Given the description of an element on the screen output the (x, y) to click on. 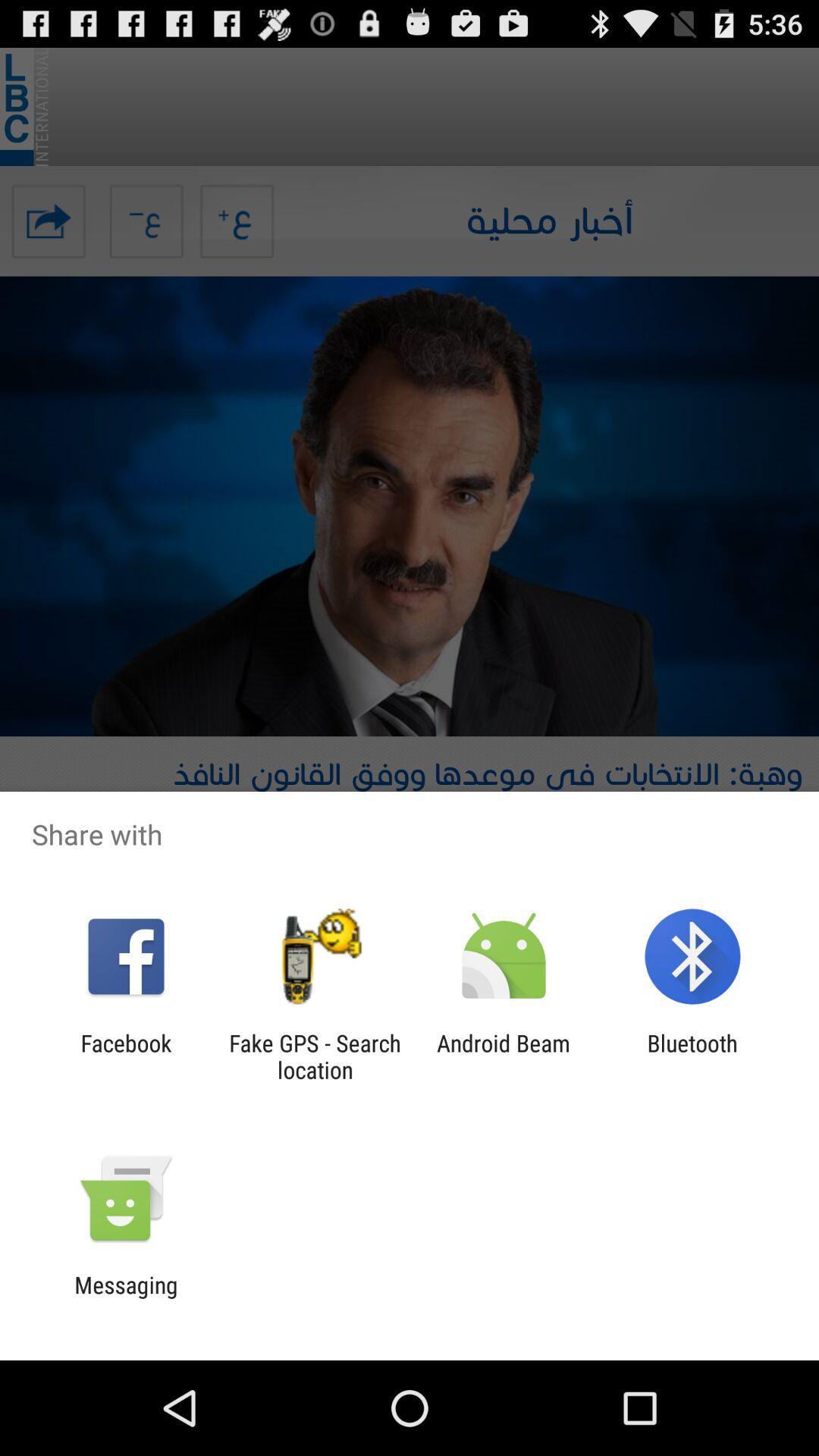
click the app next to facebook (314, 1056)
